Given the description of an element on the screen output the (x, y) to click on. 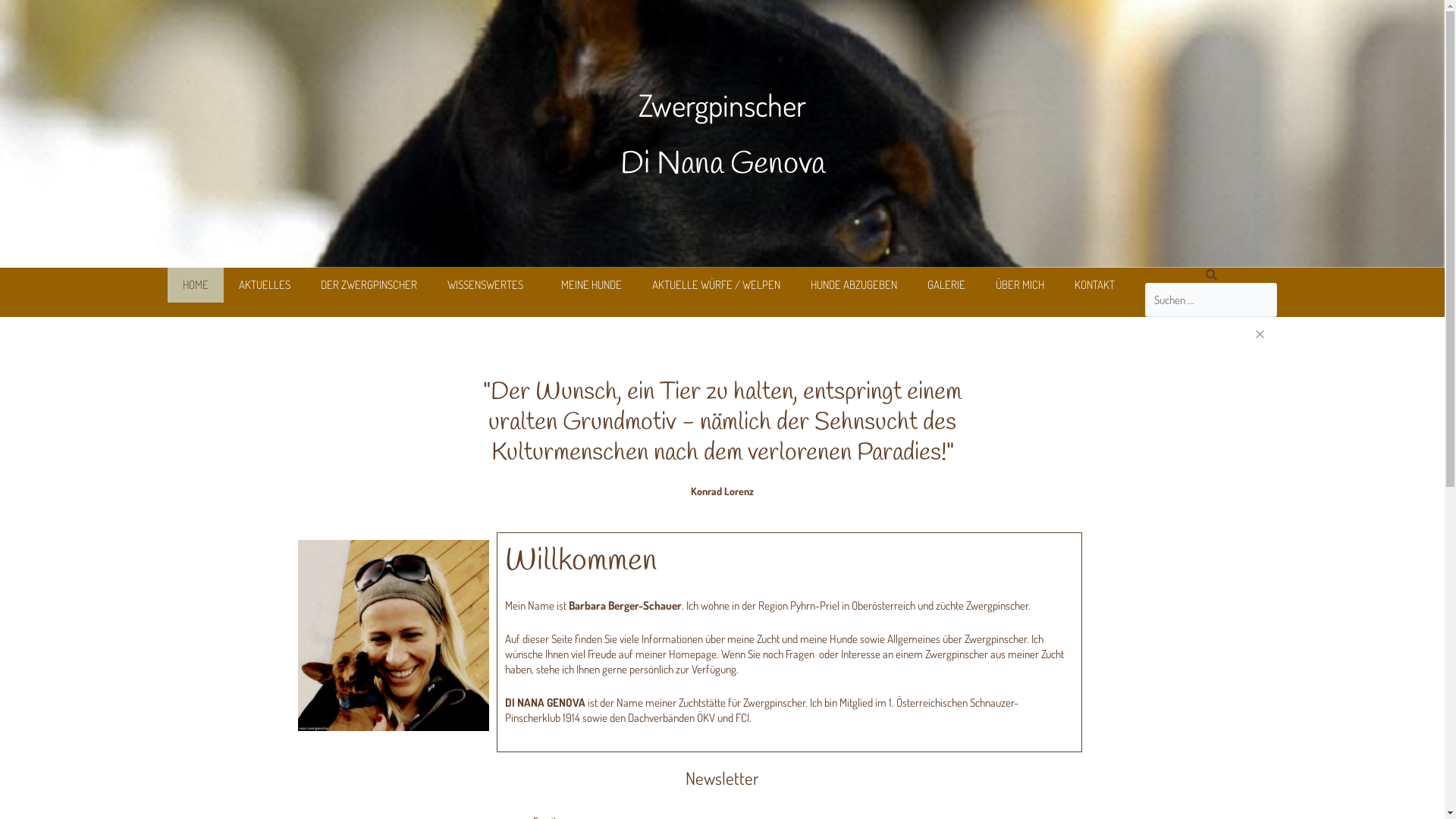
HOME Element type: text (195, 284)
KONTAKT Element type: text (1094, 284)
HUNDE ABZUGEBEN Element type: text (853, 284)
MEINE HUNDE Element type: text (591, 284)
Zwergpinscher Element type: text (722, 104)
Profilbild Element type: hover (393, 635)
WISSENSWERTES Element type: text (489, 284)
GALERIE Element type: text (946, 284)
Search Element type: hover (1211, 299)
DER ZWERGPINSCHER Element type: text (368, 284)
AKTUELLES Element type: text (264, 284)
